Given the description of an element on the screen output the (x, y) to click on. 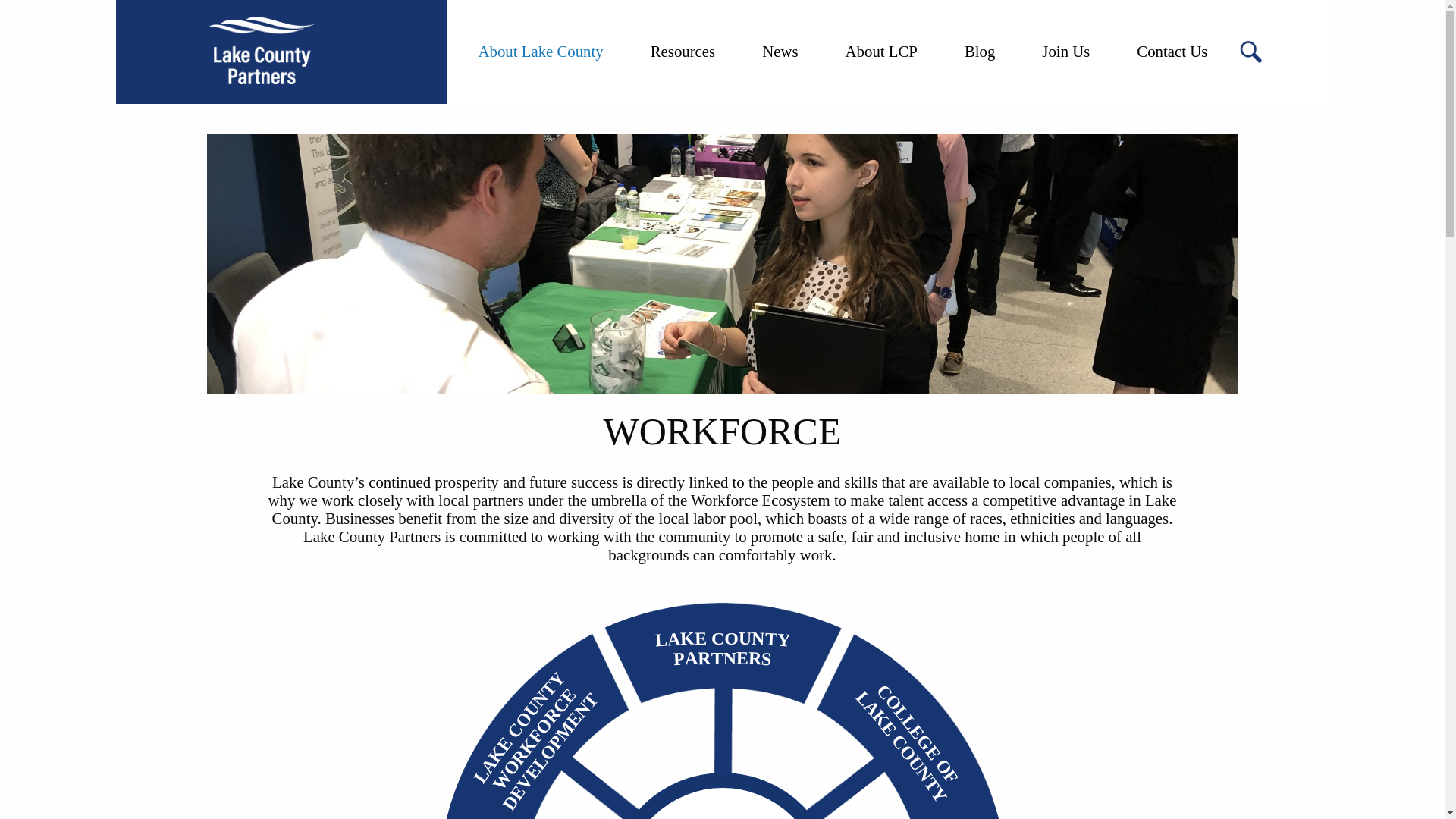
Join Us (790, 204)
Contact Us (1065, 51)
About LCP (1172, 51)
Search (881, 51)
Blog (27, 11)
About Lake County (979, 51)
Resources (260, 463)
News (539, 51)
